Given the description of an element on the screen output the (x, y) to click on. 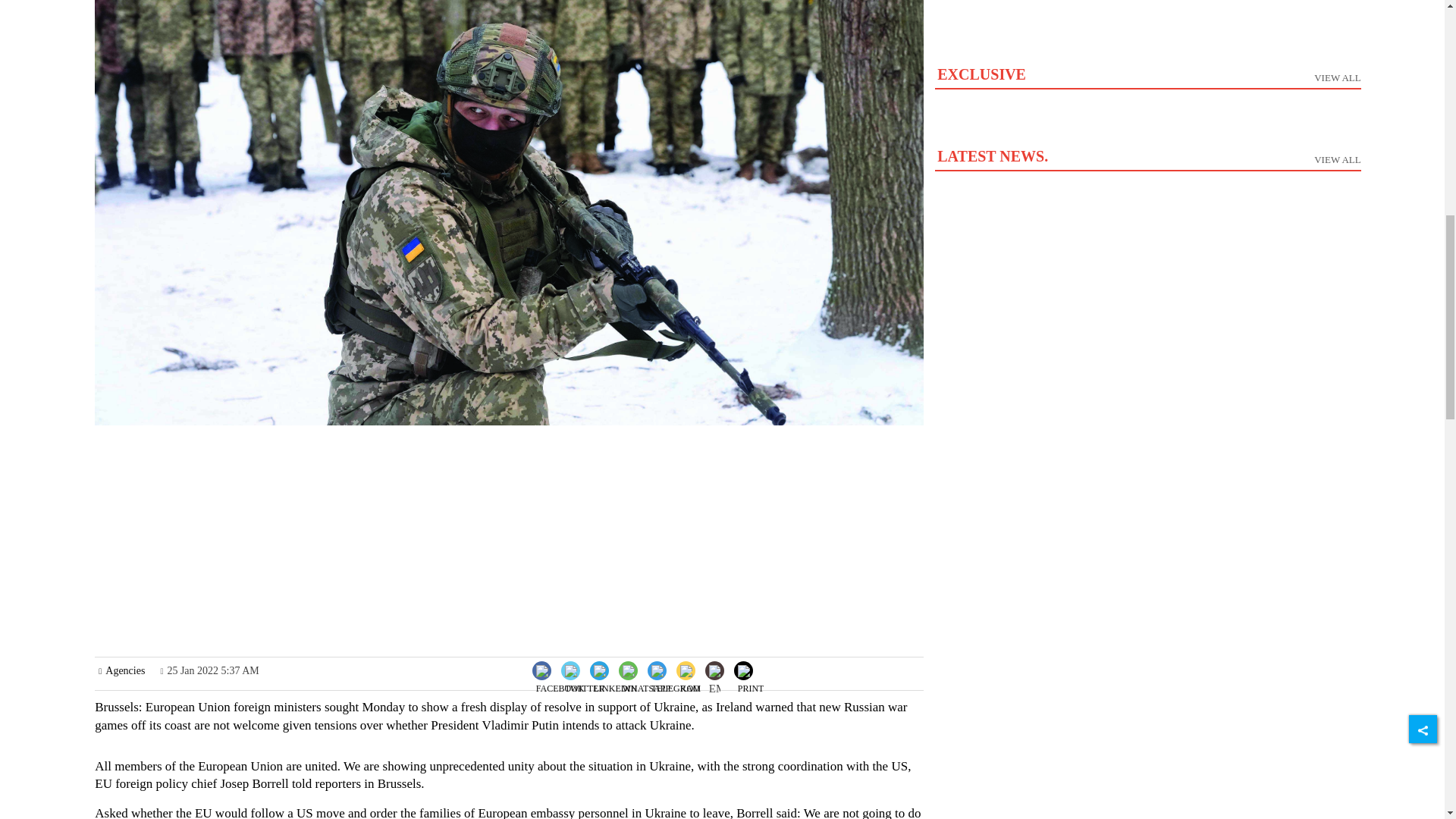
Twitter (584, 668)
Share by Email (1146, 97)
facebook (713, 672)
telegram (560, 682)
twitter (675, 682)
linkedin (584, 682)
LinkedIn (615, 682)
Facebook (614, 668)
Print (560, 668)
whatsapp (750, 668)
